Given the description of an element on the screen output the (x, y) to click on. 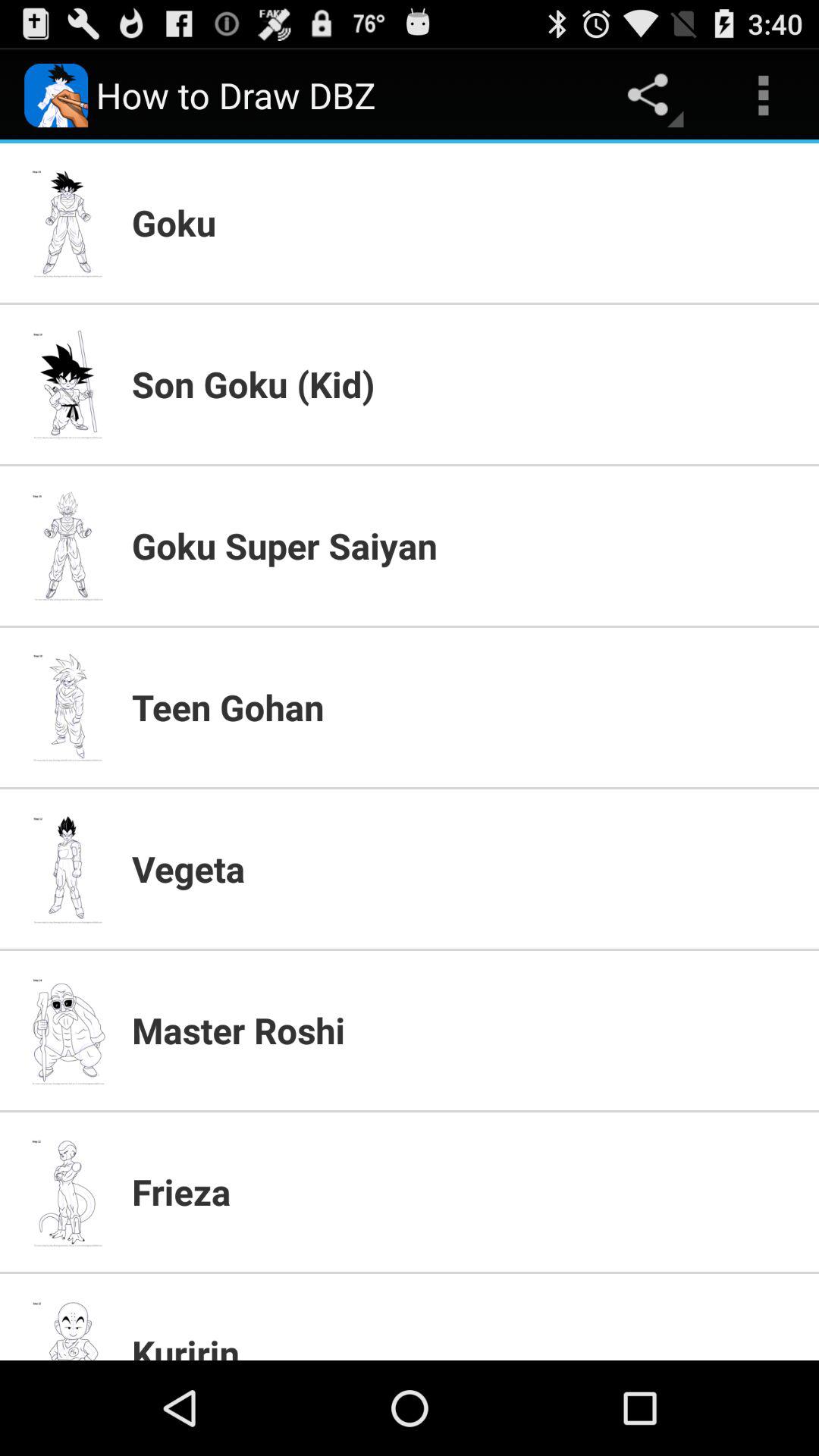
scroll to kuririn item (465, 1344)
